Given the description of an element on the screen output the (x, y) to click on. 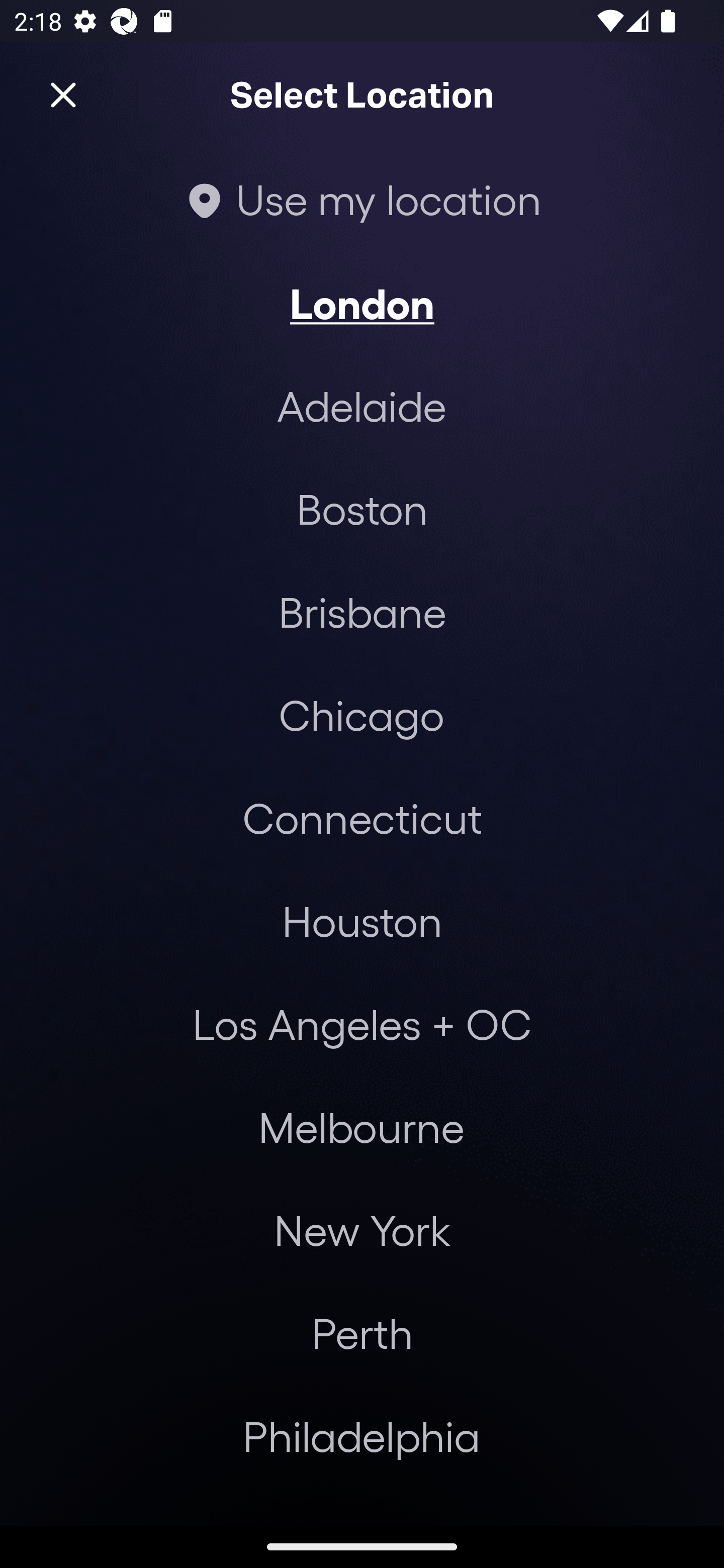
Close (62, 95)
   Use my location (362, 198)
London (361, 302)
Adelaide (361, 405)
Boston (361, 508)
Brisbane (361, 611)
Chicago (361, 714)
Connecticut (361, 817)
Houston (361, 920)
Los Angeles + OC (361, 1023)
Melbourne (361, 1127)
New York (361, 1230)
Perth (361, 1332)
Philadelphia (361, 1436)
